Given the description of an element on the screen output the (x, y) to click on. 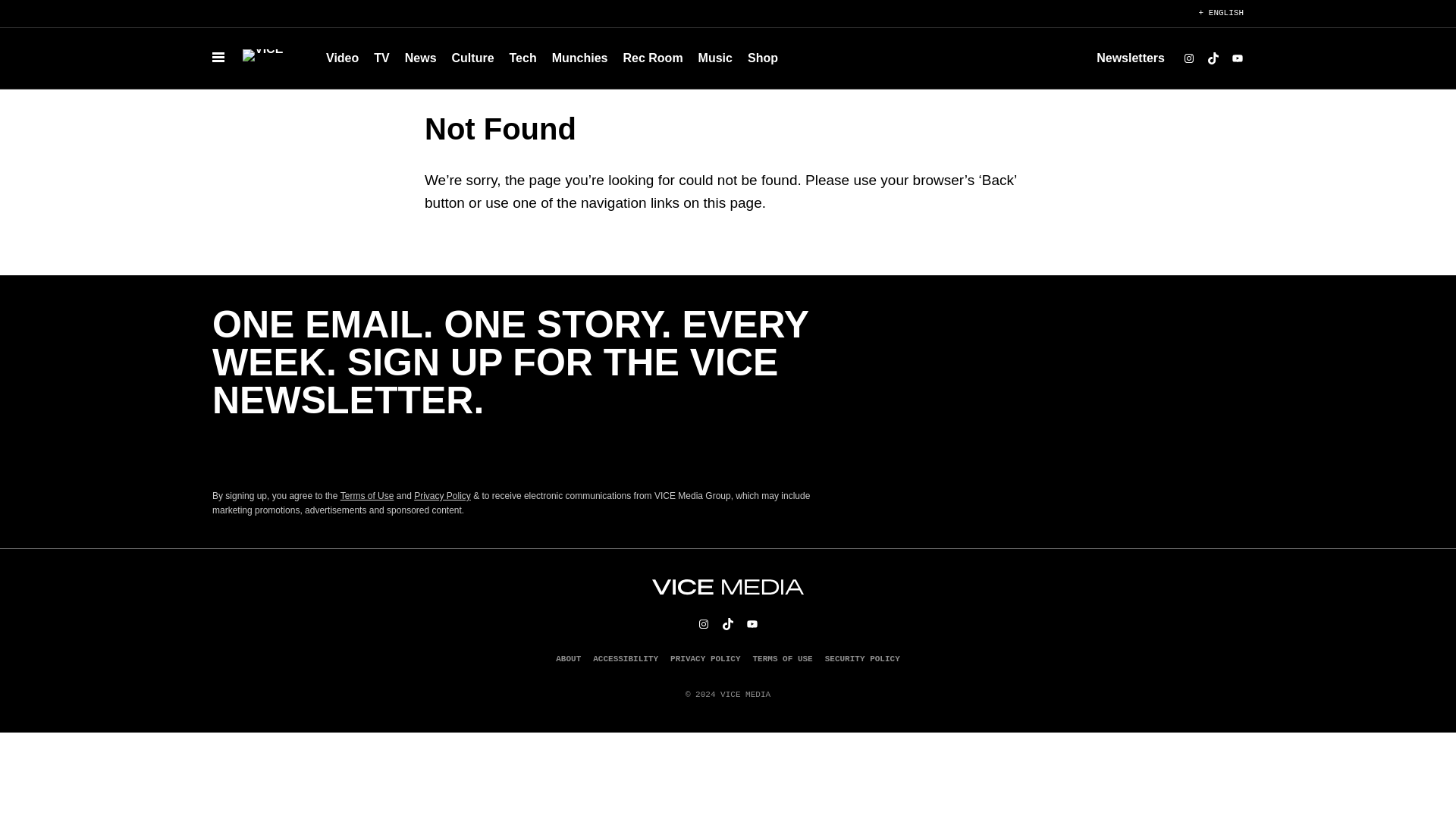
YouTube (1237, 58)
Video (342, 58)
Newsletters (1130, 57)
Shop (762, 58)
News (420, 58)
Rec Room (652, 58)
TikTok (1213, 58)
Open Menu (217, 58)
Tech (523, 58)
Instagram (1188, 58)
